Given the description of an element on the screen output the (x, y) to click on. 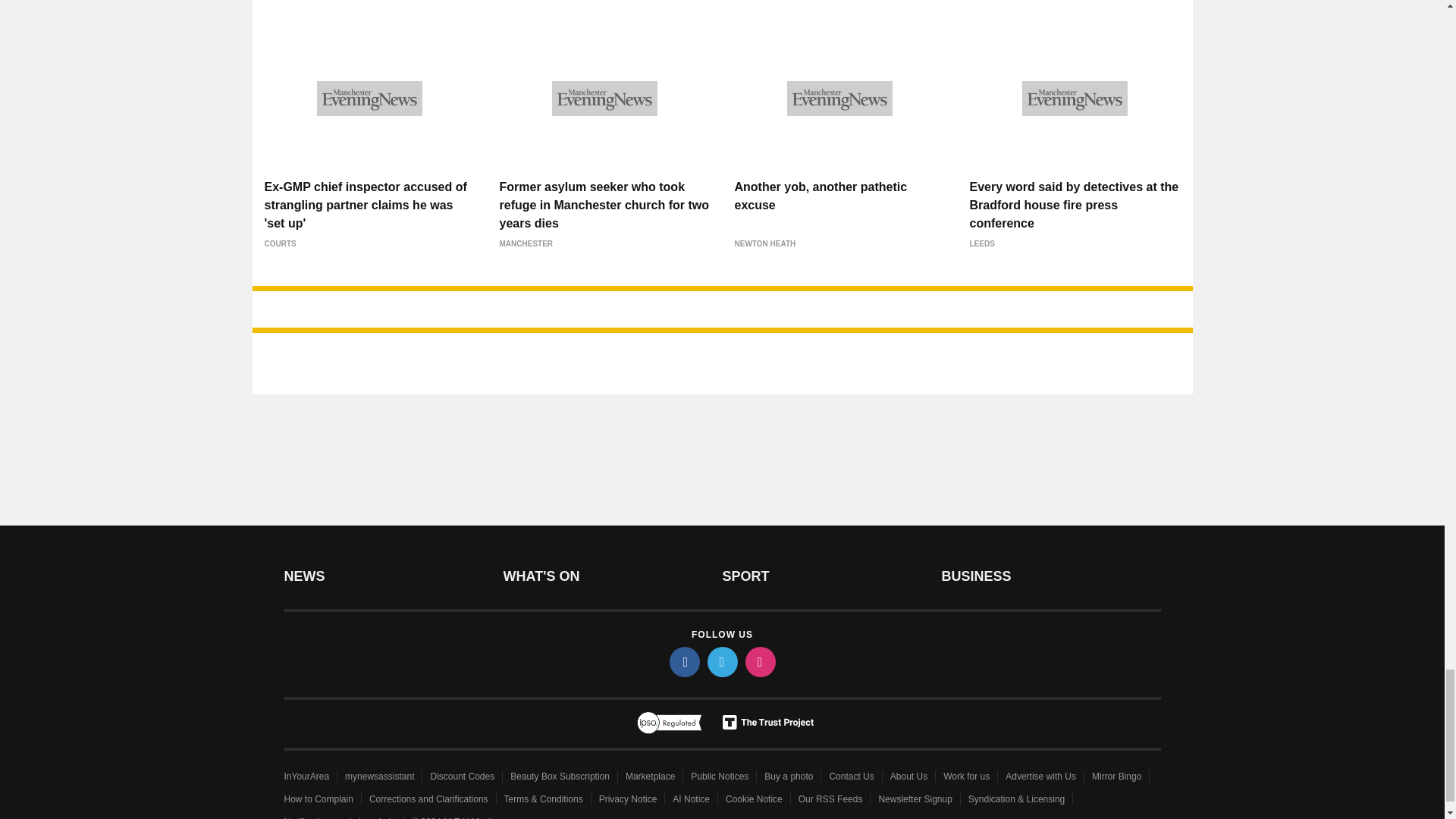
instagram (759, 662)
facebook (683, 662)
twitter (721, 662)
